Given the description of an element on the screen output the (x, y) to click on. 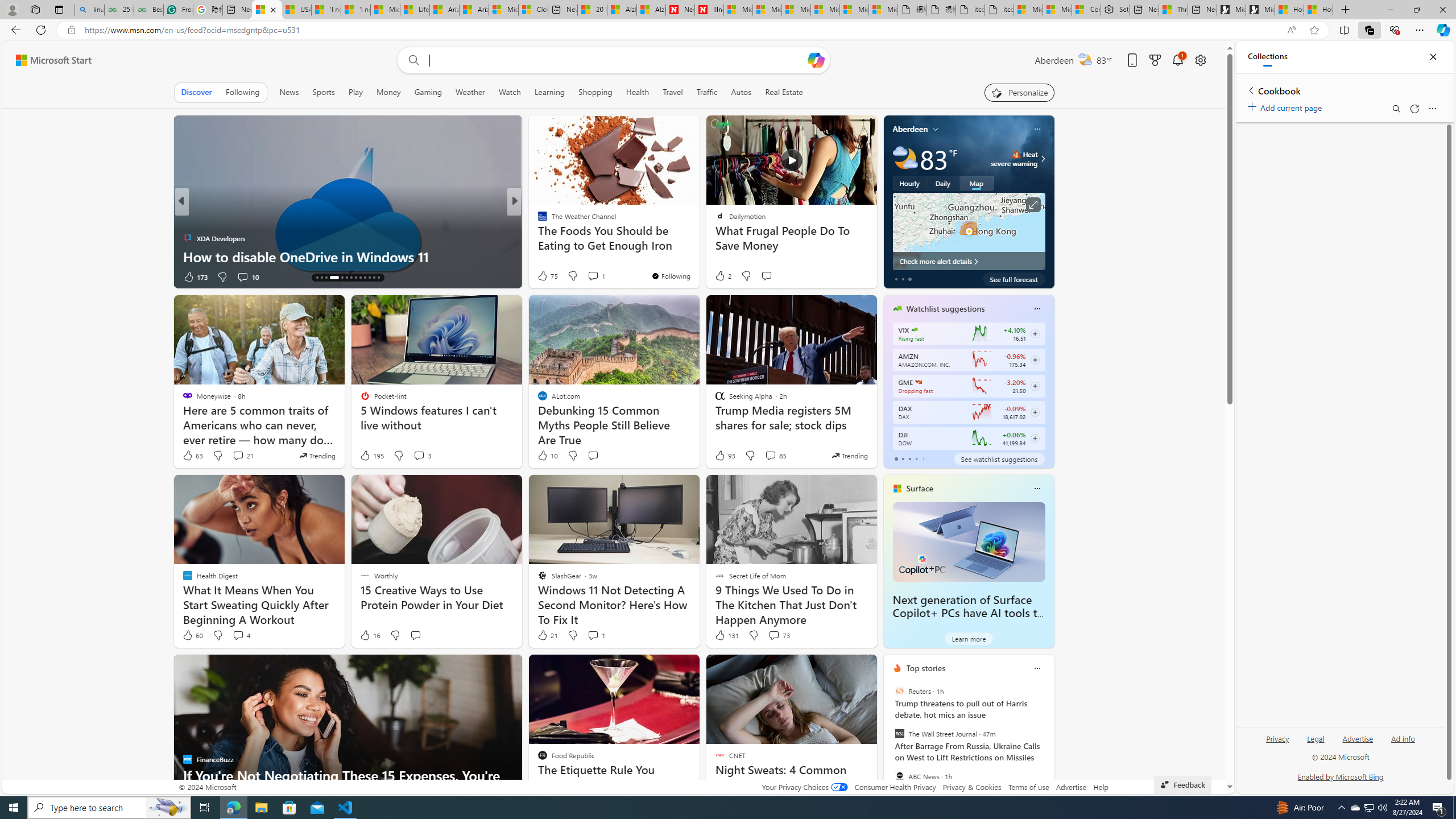
Eat This, Not That! (537, 238)
View comments 4 Comment (240, 634)
View comments 3 Comment (421, 455)
75 Like (546, 275)
AutomationID: tab-22 (360, 277)
Everyday Dishes To Boost Your Protein Intake (697, 256)
